Given the description of an element on the screen output the (x, y) to click on. 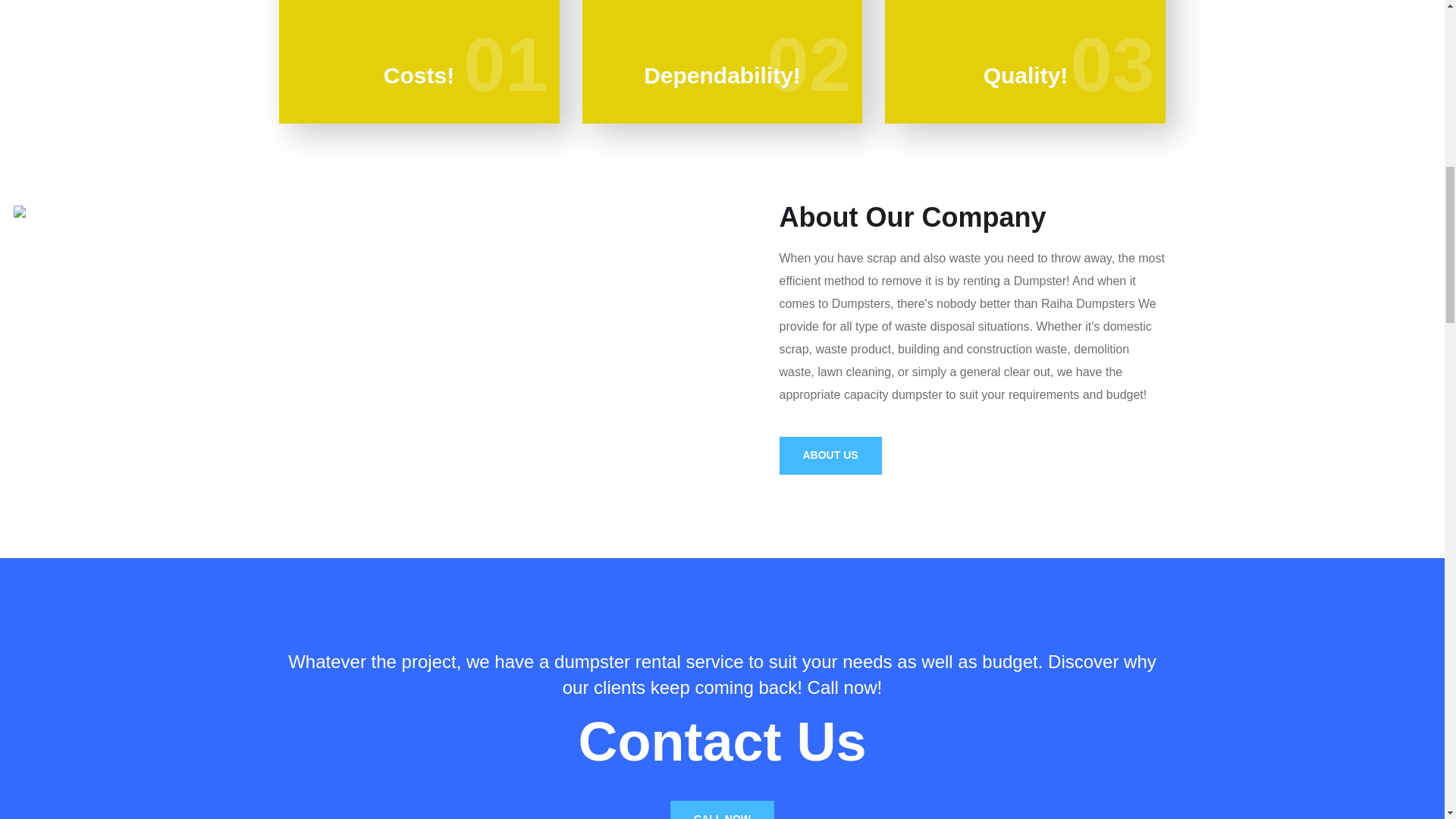
CALL NOW (721, 809)
ABOUT US (830, 455)
